Given the description of an element on the screen output the (x, y) to click on. 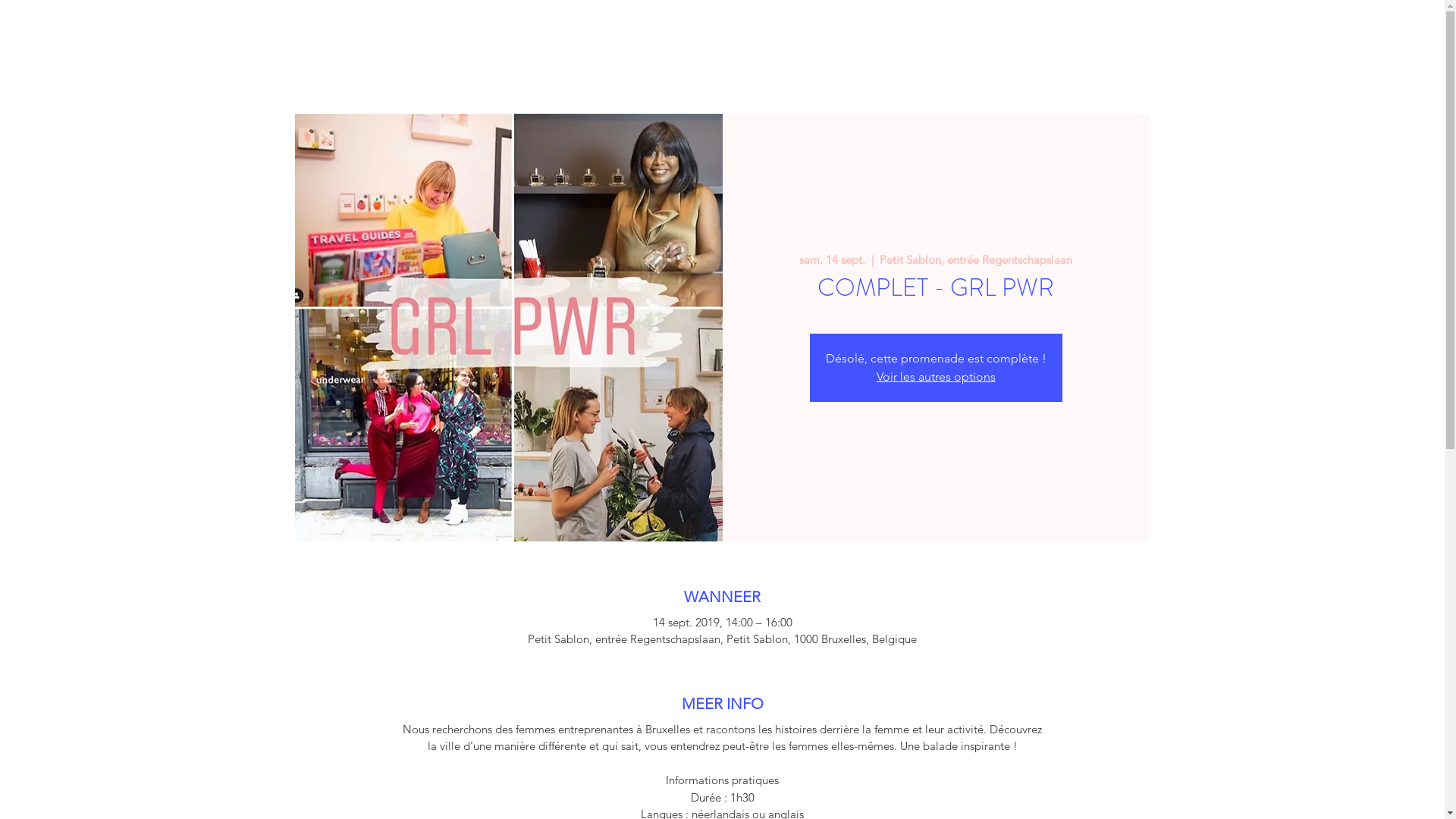
Voir les autres options Element type: text (935, 376)
